Given the description of an element on the screen output the (x, y) to click on. 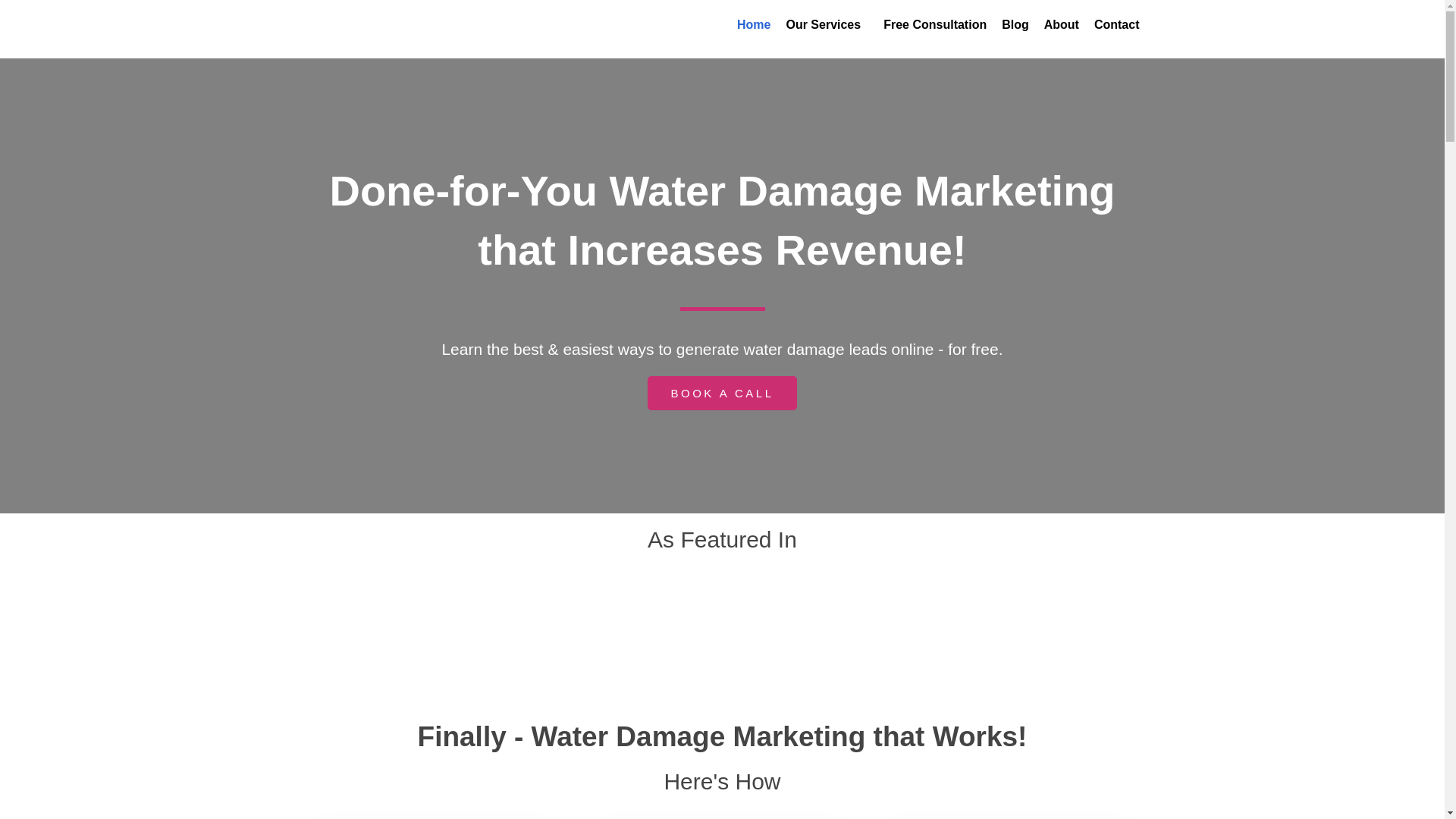
BOOK A CALL (721, 392)
Our Services (826, 24)
Home (753, 24)
Free Consultation (935, 24)
About (1061, 24)
Blog (1015, 24)
Contact (1116, 24)
